Given the description of an element on the screen output the (x, y) to click on. 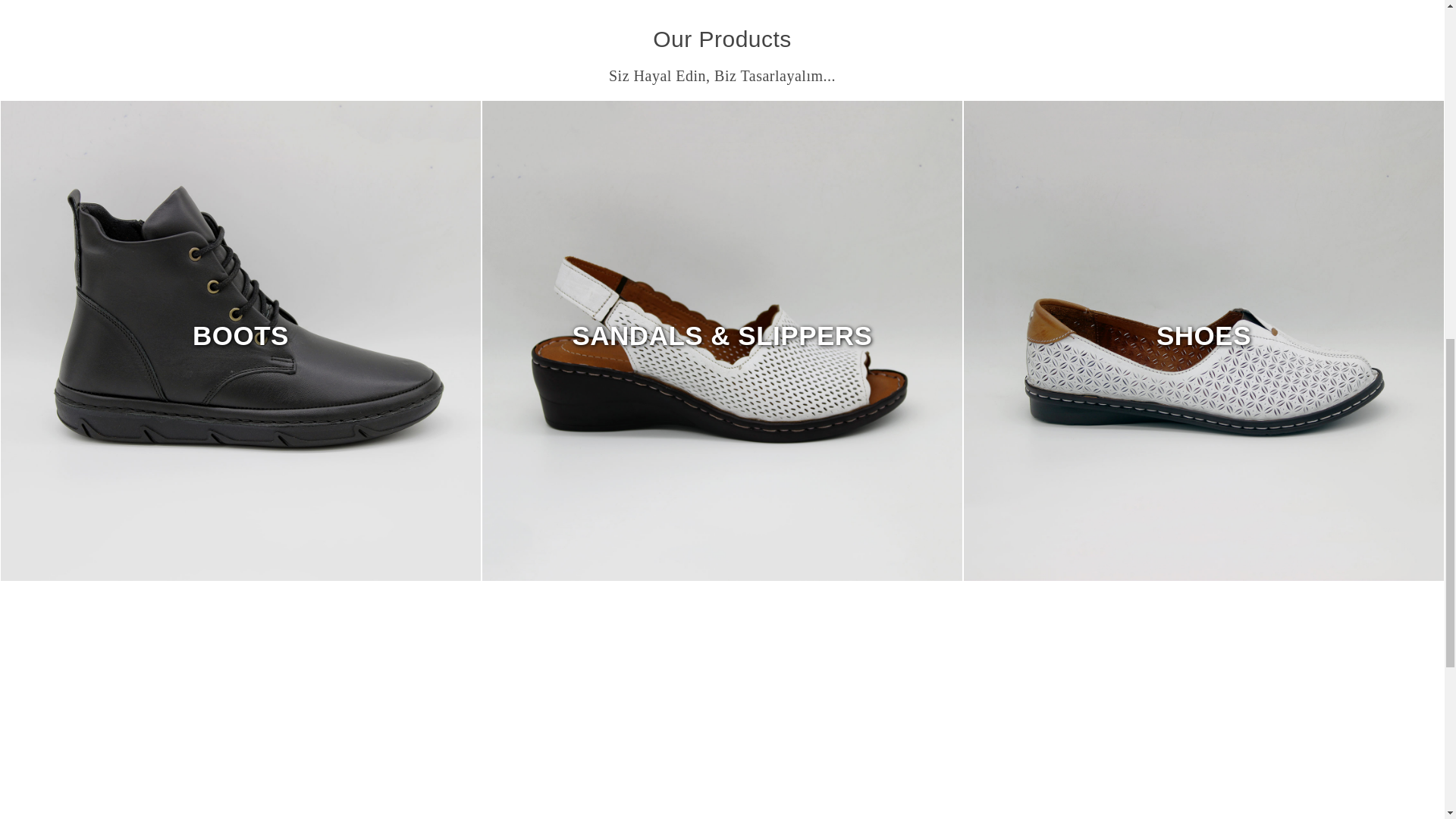
SHOES (1203, 335)
BOOTS (240, 335)
